Given the description of an element on the screen output the (x, y) to click on. 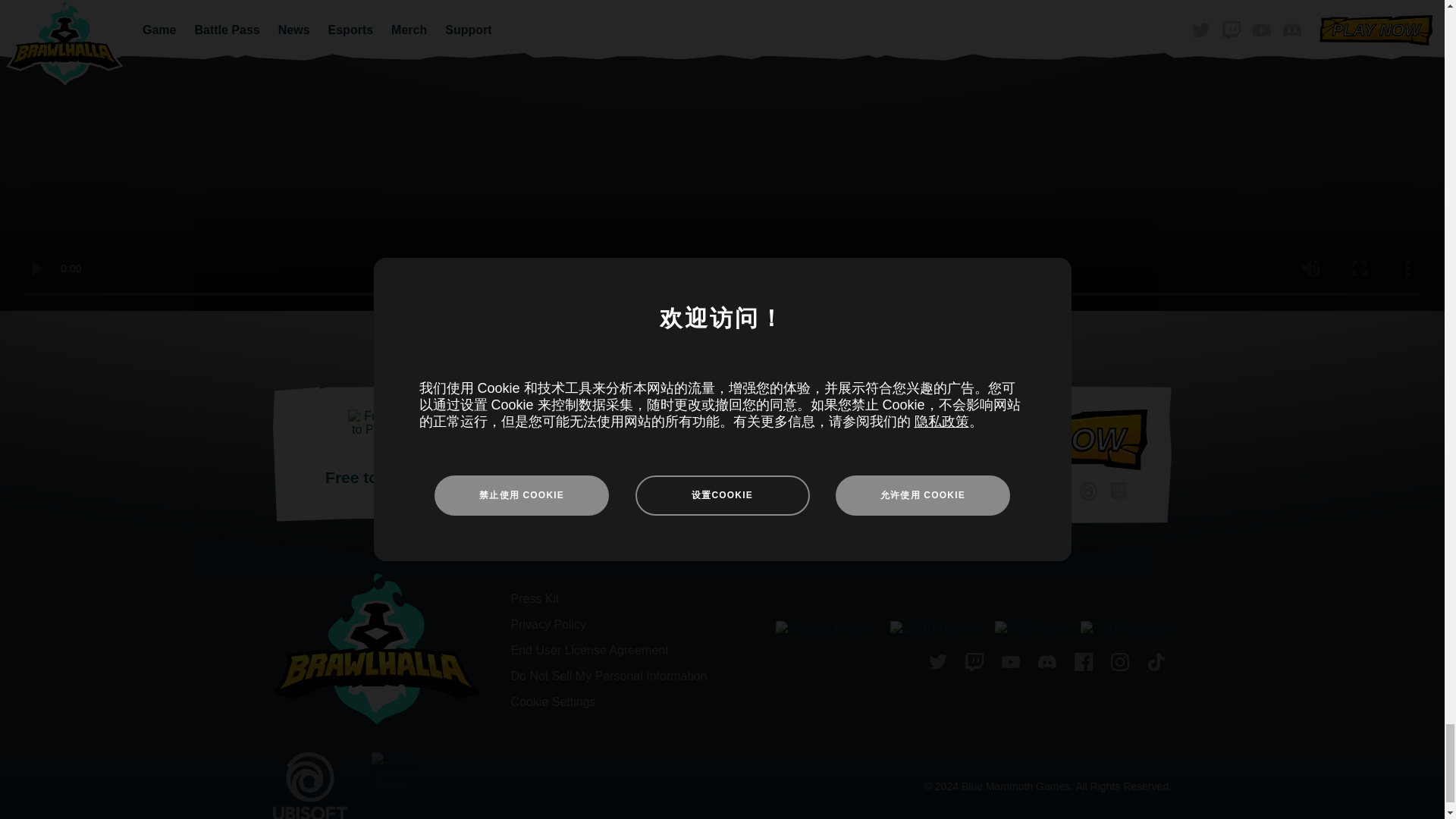
Discord (1047, 663)
TikTok (1156, 663)
YouTube (1010, 663)
Twitch (974, 663)
Twitter (938, 663)
Instagram (1120, 663)
Facebook (1083, 663)
